Given the description of an element on the screen output the (x, y) to click on. 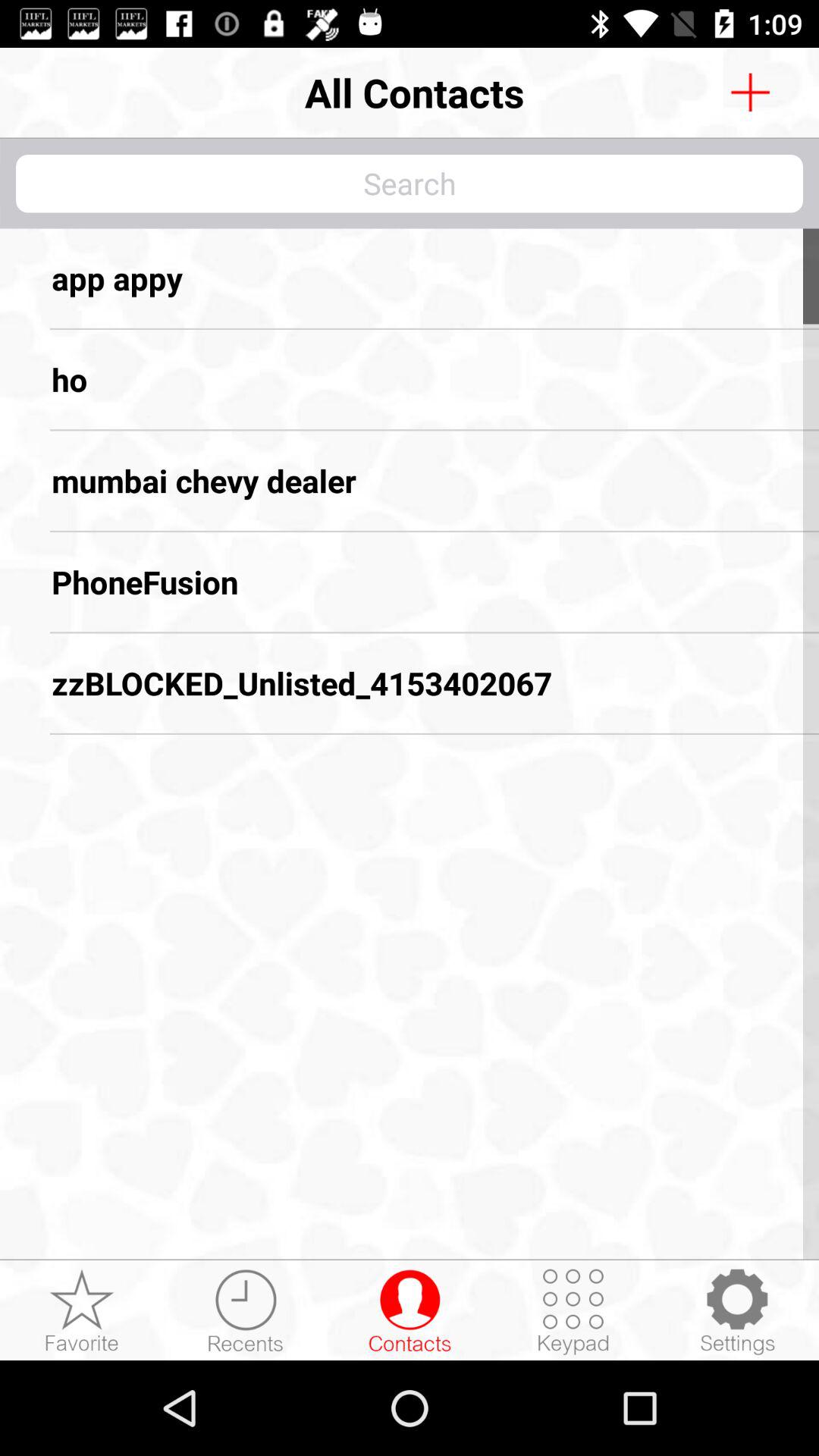
enter words and search (409, 183)
